Given the description of an element on the screen output the (x, y) to click on. 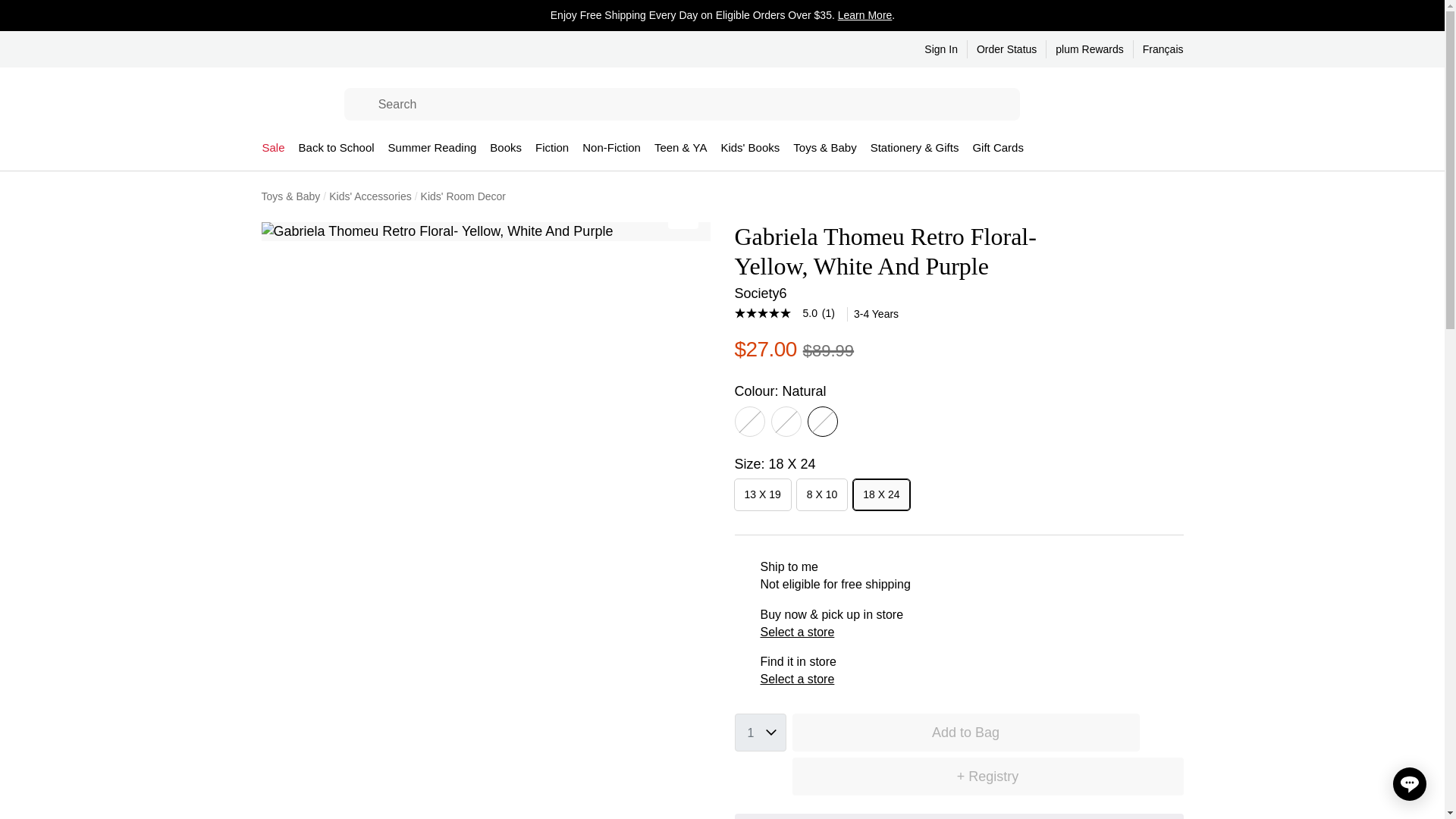
Natural (821, 421)
plum Rewards (1088, 49)
Open store locator drawer (1052, 104)
View Registry (1083, 104)
Order Status (1006, 49)
View Wishlist (1112, 104)
Open account drawer (1143, 104)
Sign In (941, 49)
13 X 19 (761, 494)
Black (785, 421)
View Bag (1173, 104)
8 X 10 (821, 494)
18 X 24 (880, 494)
Indigo Home (289, 104)
